Given the description of an element on the screen output the (x, y) to click on. 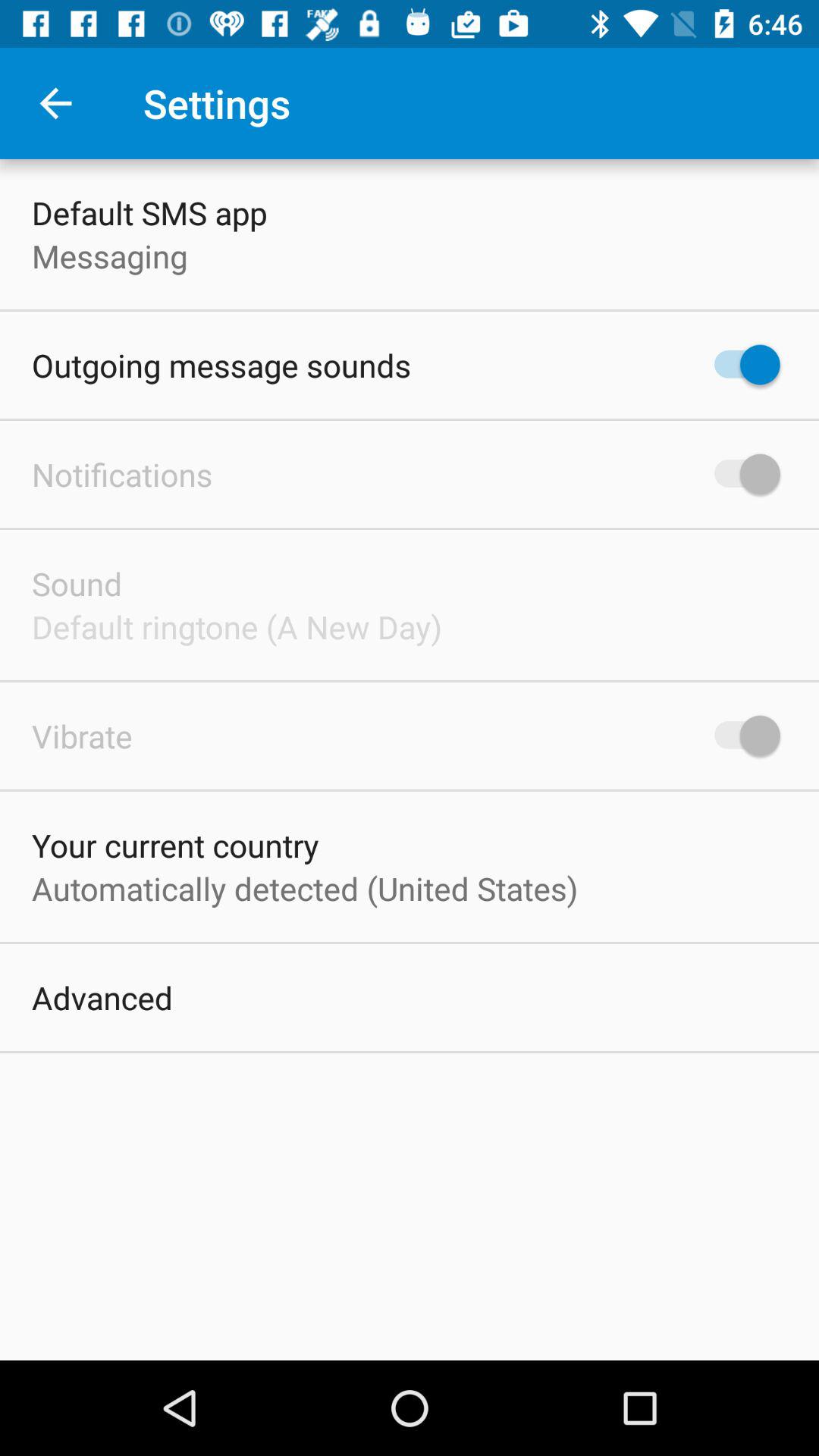
click app next to settings (55, 103)
